Given the description of an element on the screen output the (x, y) to click on. 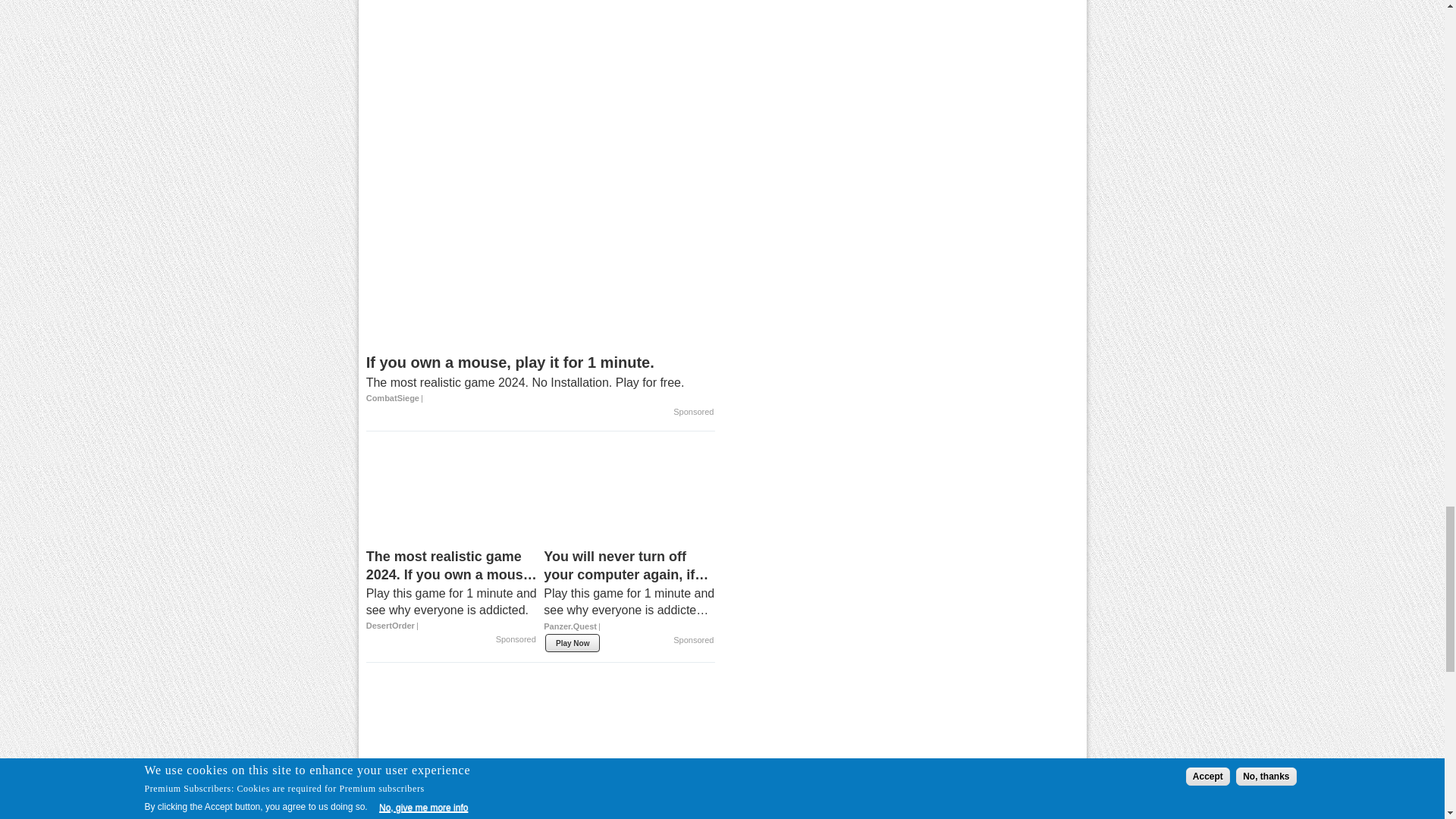
If you own a mouse, play it for 1 minute. (540, 378)
Advertisement (539, 72)
